Given the description of an element on the screen output the (x, y) to click on. 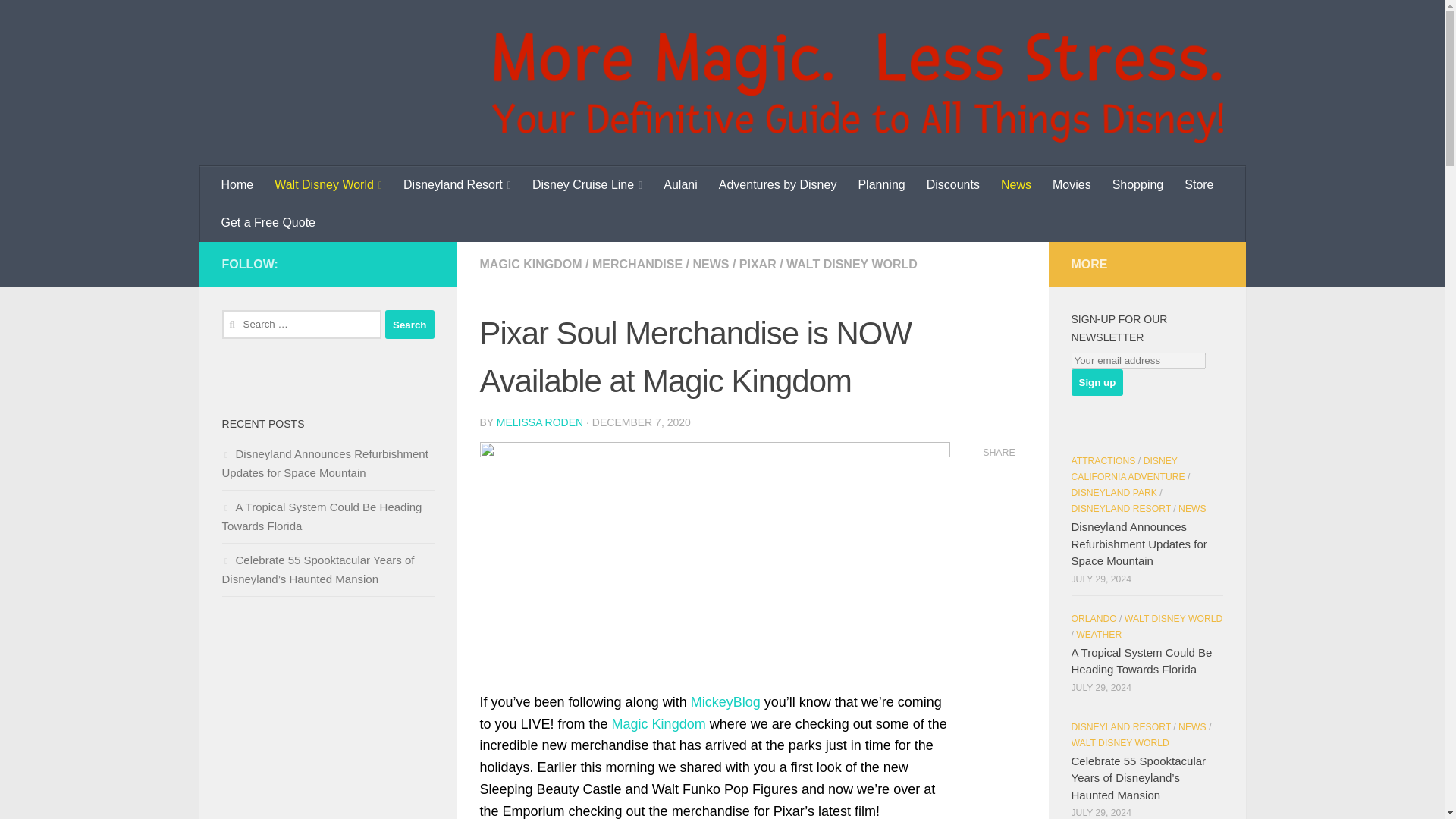
Skip to content (63, 20)
Home (237, 184)
Posts by Melissa Roden (539, 422)
Pixar Soul Merchandise is NOW Available at Magic Kingdom (714, 553)
Sign up (1096, 382)
Search (409, 324)
Walt Disney World (328, 184)
Search (409, 324)
